Given the description of an element on the screen output the (x, y) to click on. 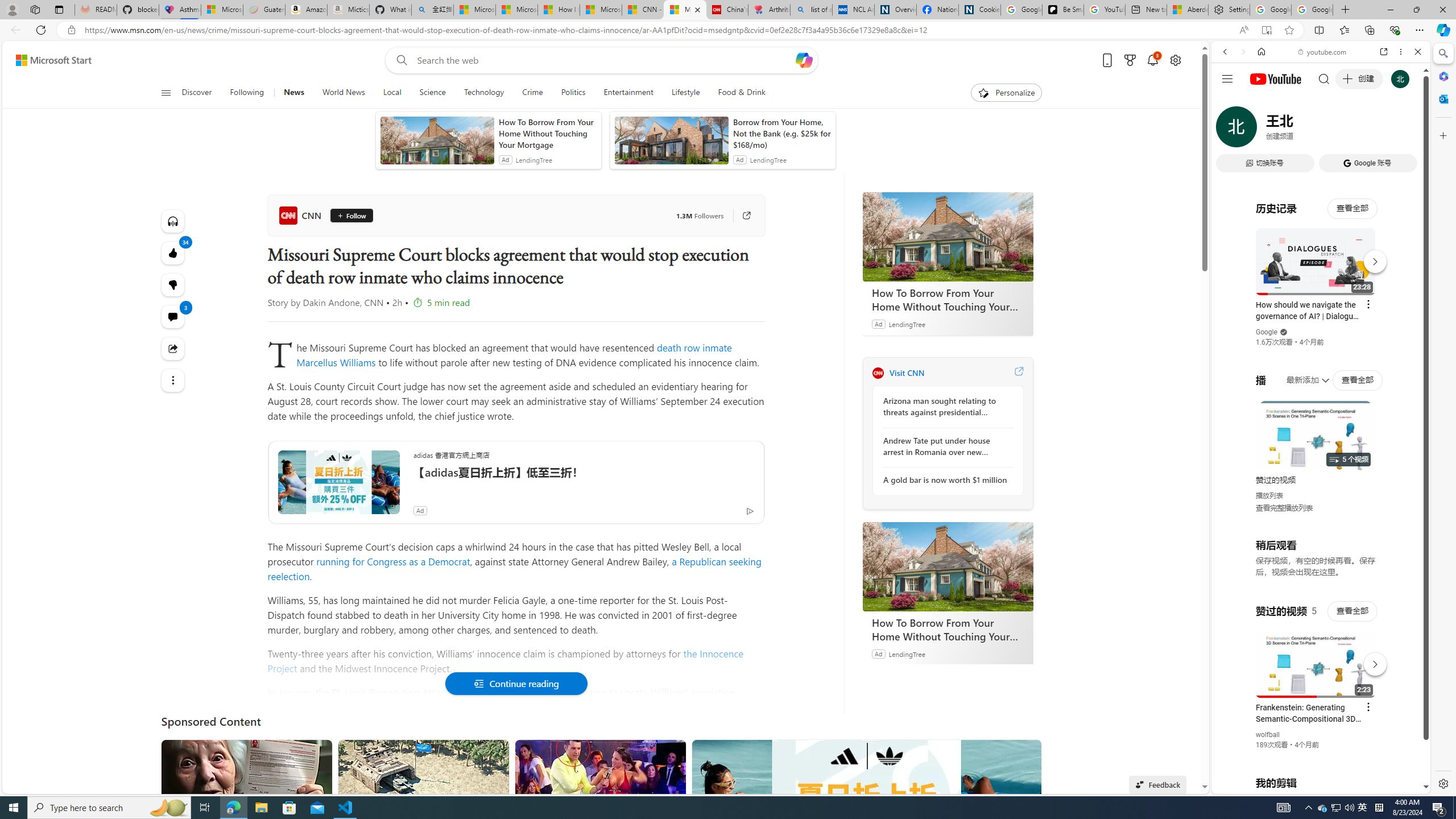
Personal Profile (12, 9)
#you (1315, 659)
Music (1320, 309)
Local (391, 92)
a Republican seeking reelection (514, 568)
Search Filter, VIDEOS (1300, 129)
Crime (532, 92)
IMAGES (1262, 130)
